Given the description of an element on the screen output the (x, y) to click on. 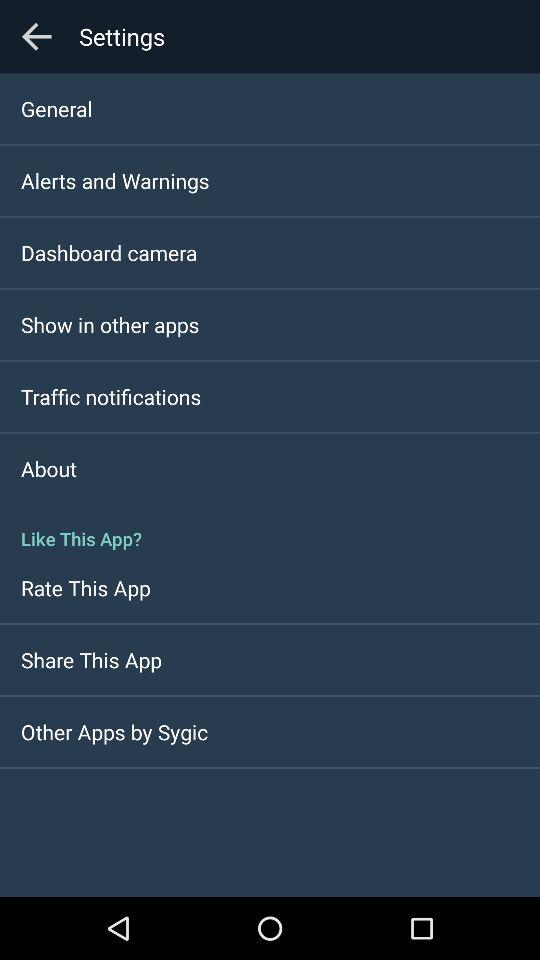
jump until the alerts and warnings (115, 180)
